Given the description of an element on the screen output the (x, y) to click on. 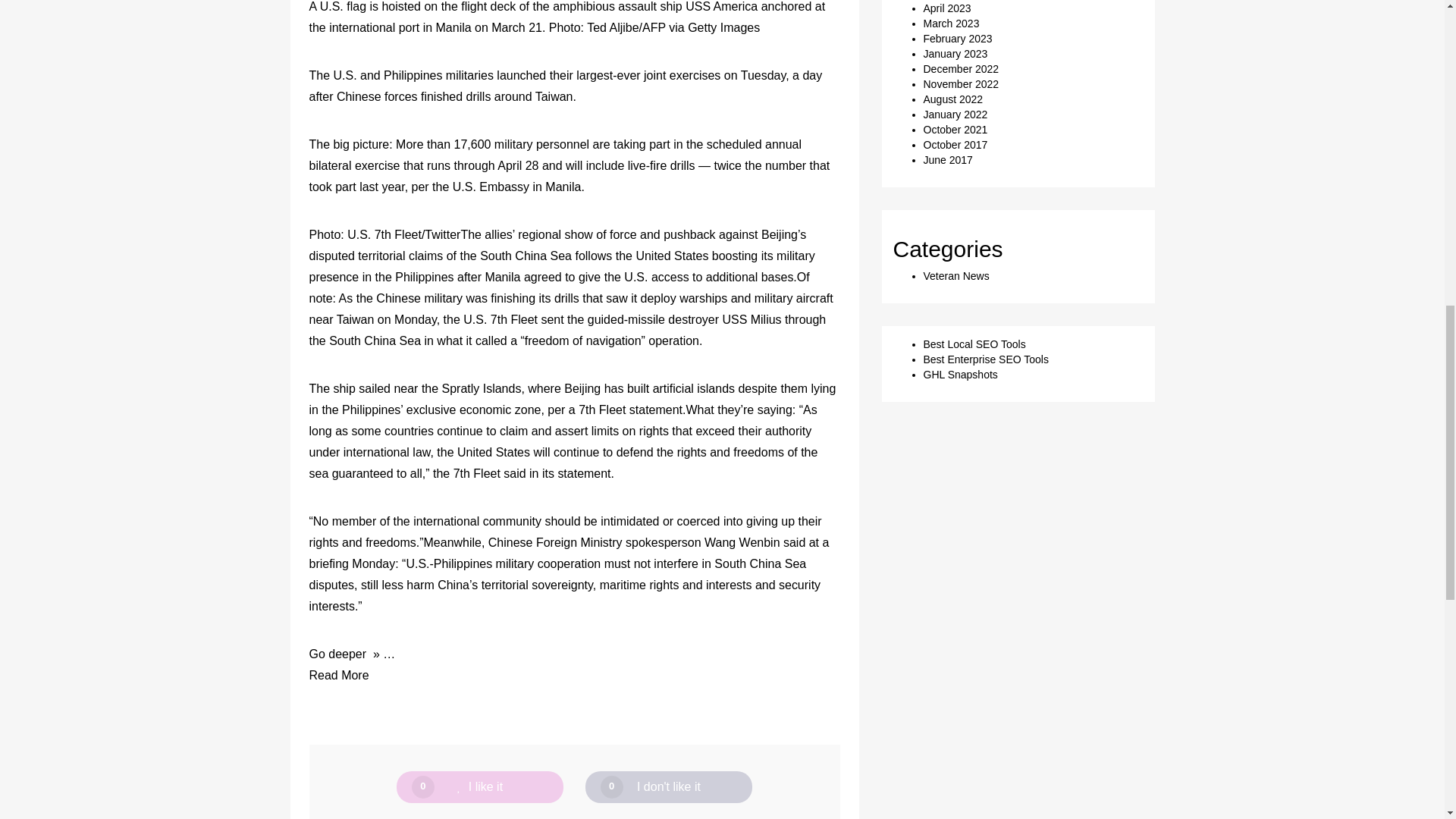
April 2023 (947, 8)
Best Enterprise SEO Tools (985, 358)
June 2017 (947, 159)
August 2022 (953, 99)
Veteran News (956, 275)
Best Local SEO Tools (974, 344)
January 2023 (955, 53)
February 2023 (957, 38)
December 2022 (960, 69)
January 2022 (955, 114)
November 2022 (960, 83)
March 2023 (951, 23)
October 2017 (955, 144)
October 2021 (955, 129)
GHL Snapshots (960, 374)
